Given the description of an element on the screen output the (x, y) to click on. 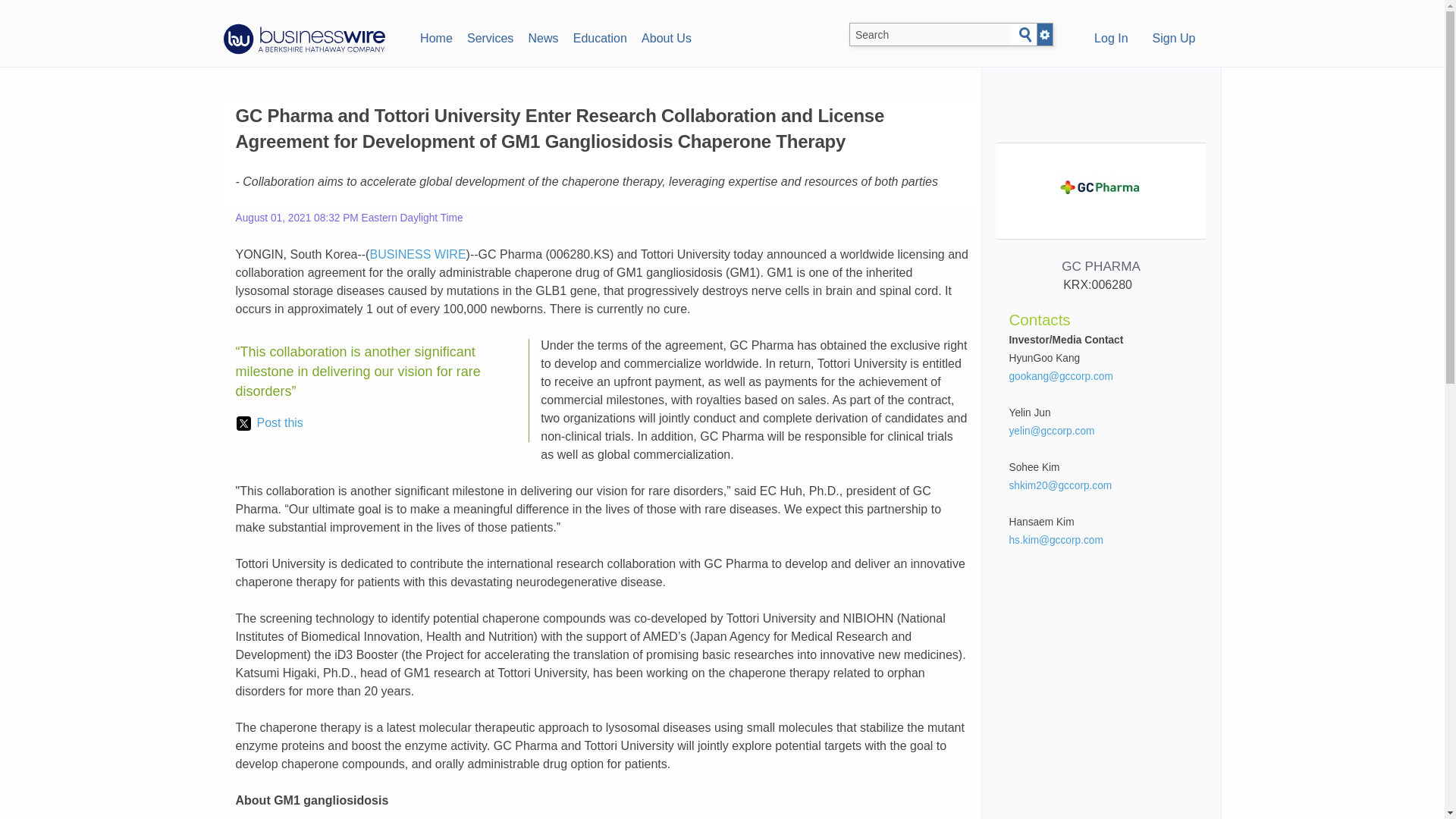
BUSINESS WIRE (417, 254)
Search BusinessWire.com (930, 34)
Education (599, 36)
Home (436, 36)
Services (490, 36)
About Us (665, 36)
Search (1025, 34)
News (543, 36)
Post this (269, 422)
